Given the description of an element on the screen output the (x, y) to click on. 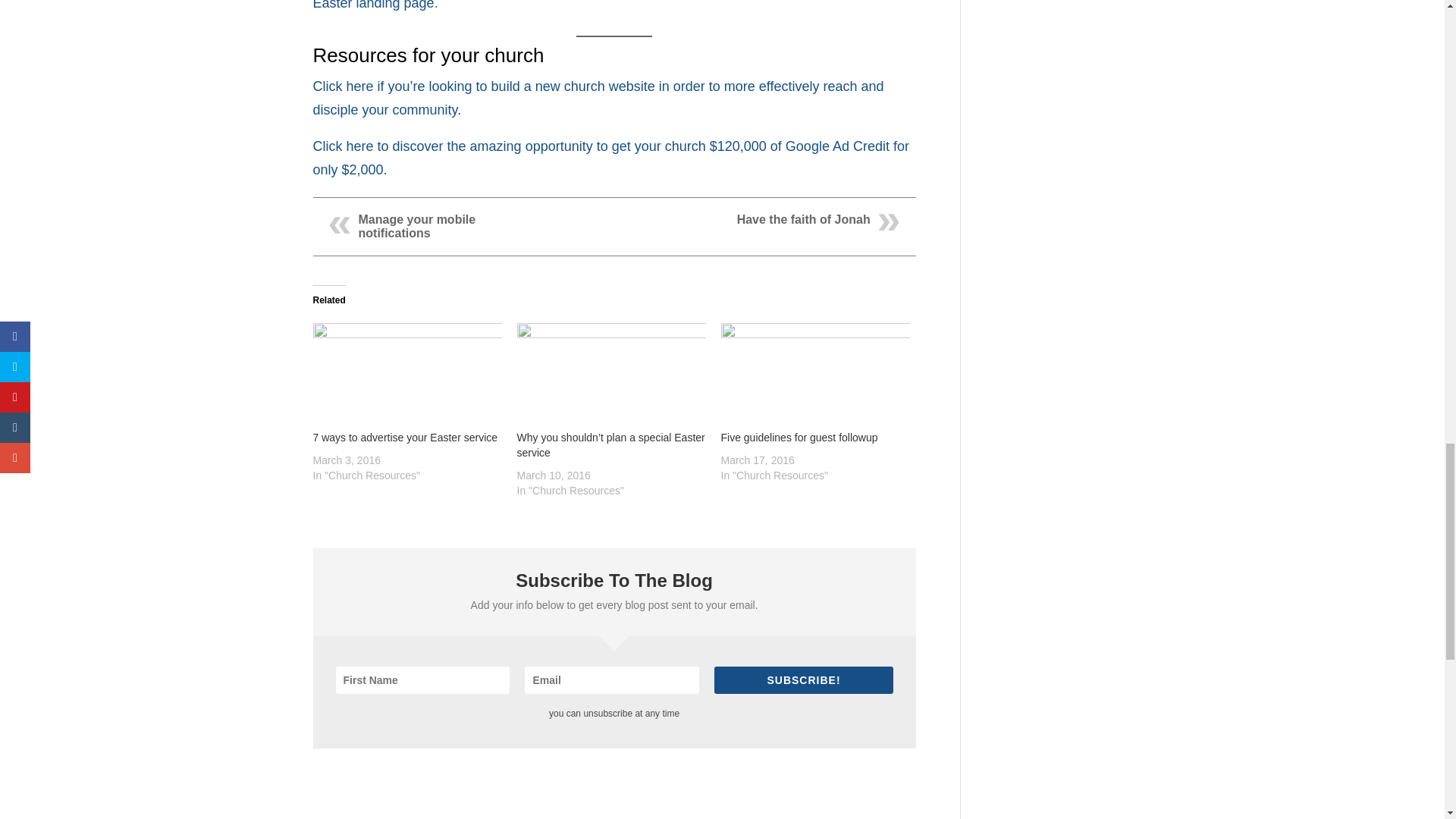
Five guidelines for guest followup (798, 437)
7 ways to advertise your Easter service (406, 375)
Five guidelines for guest followup (814, 375)
7 ways to advertise your Easter service (405, 437)
